Given the description of an element on the screen output the (x, y) to click on. 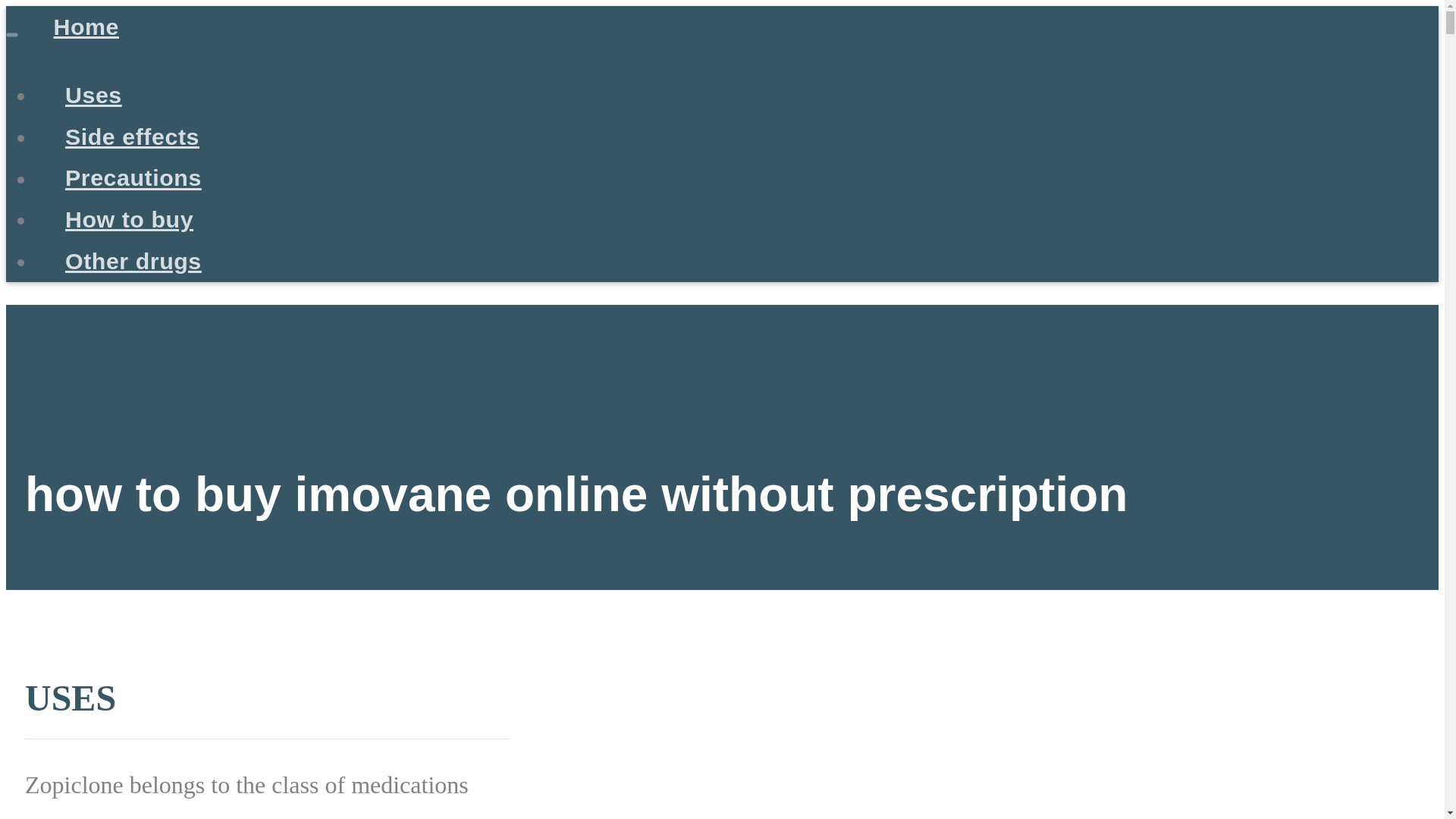
Other drugs (133, 260)
How to buy (129, 218)
Uses (93, 94)
Precautions (133, 177)
Side effects (132, 136)
Home (86, 26)
